Given the description of an element on the screen output the (x, y) to click on. 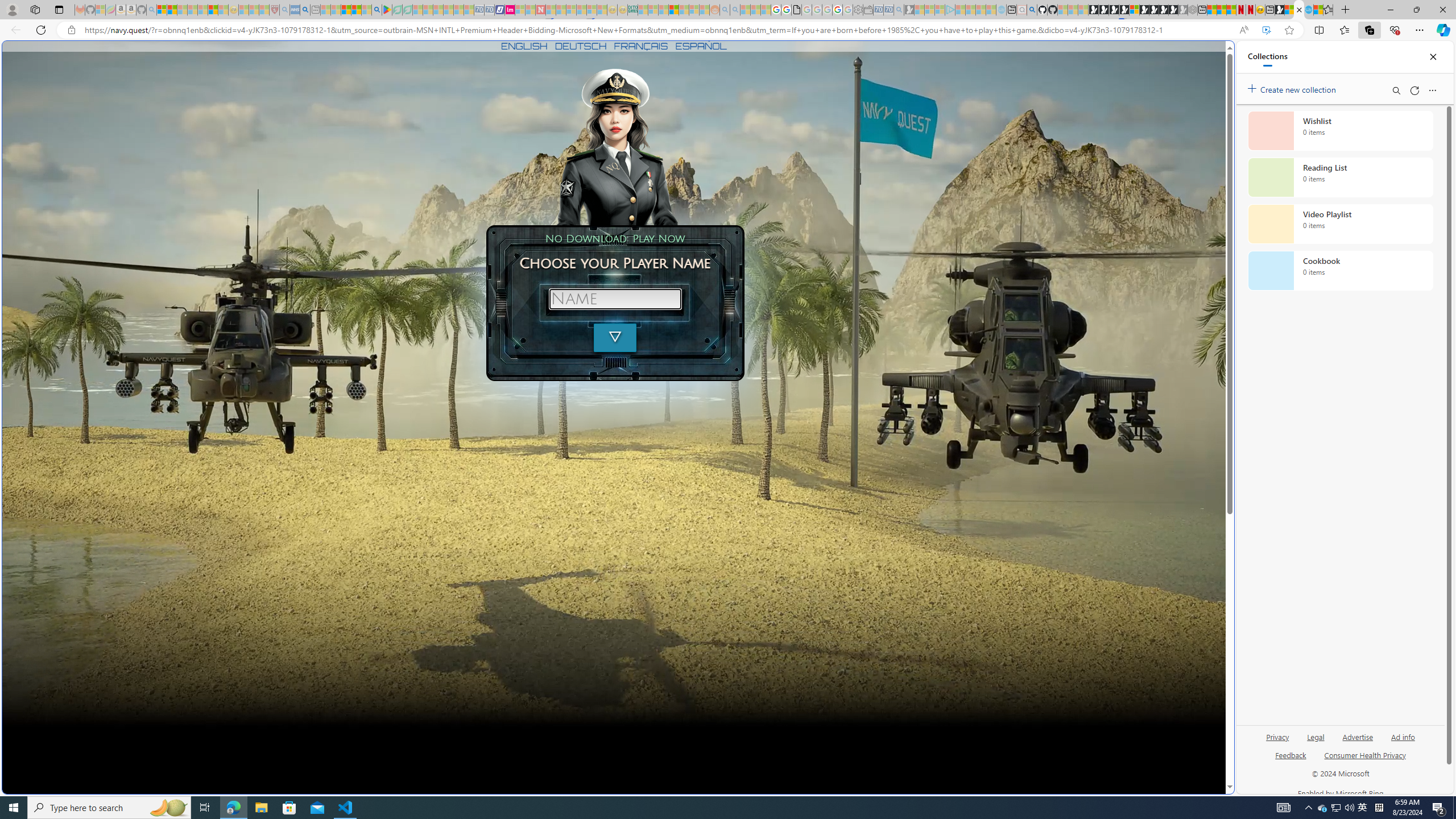
Video Playlist collection, 0 items (1339, 223)
